Given the description of an element on the screen output the (x, y) to click on. 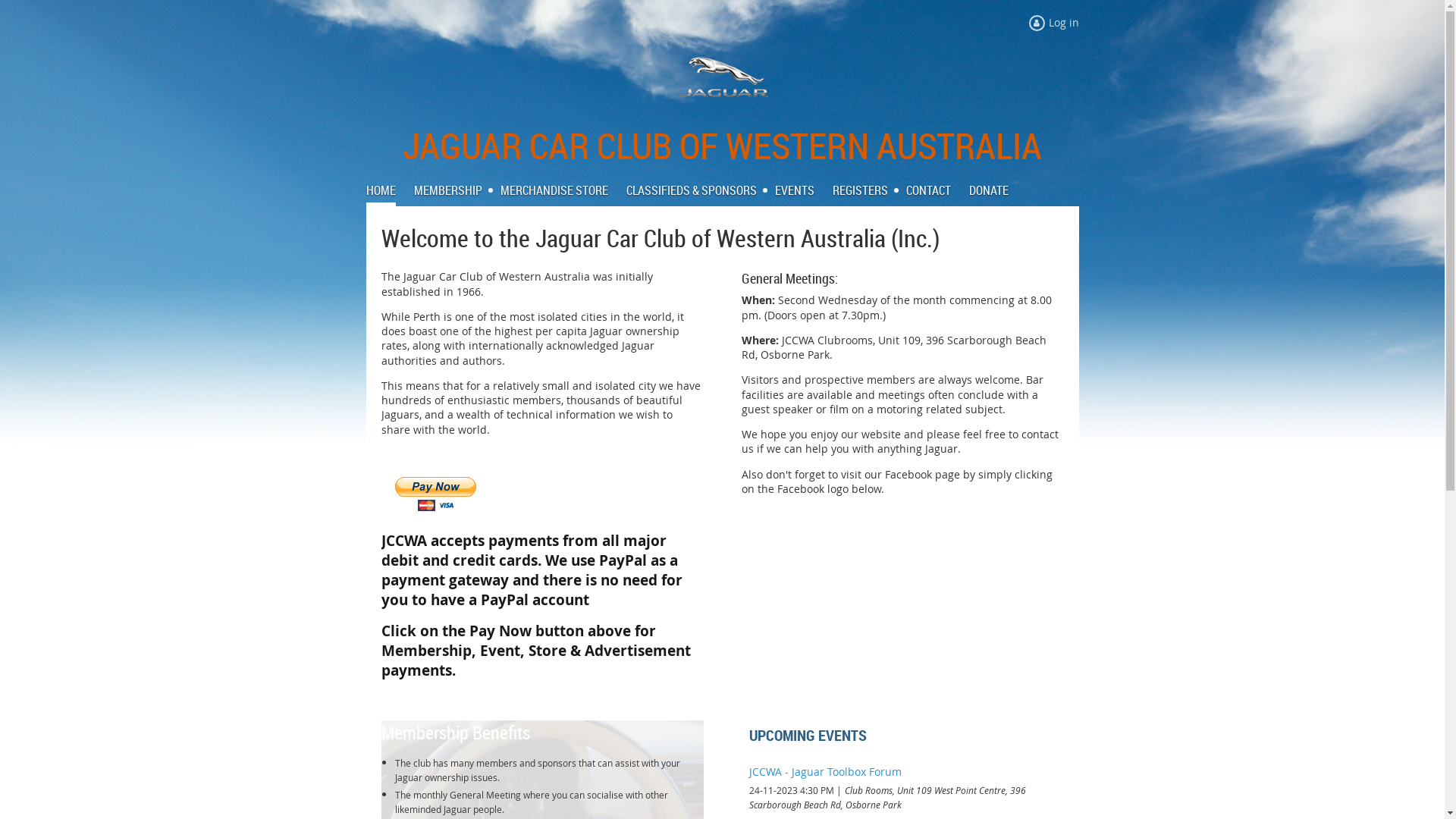
CLASSIFIEDS & SPONSORS Element type: text (700, 190)
Jaguar Logo Element type: hover (722, 78)
HOME Element type: text (389, 190)
REGISTERS Element type: text (869, 190)
MEMBERSHIP Element type: text (457, 190)
DONATE Element type: text (988, 190)
Log in Element type: text (1053, 23)
EVENTS Element type: text (803, 190)
MERCHANDISE STORE Element type: text (563, 190)
JCCWA - Jaguar Toolbox Forum Element type: text (825, 771)
CONTACT Element type: text (936, 190)
